Given the description of an element on the screen output the (x, y) to click on. 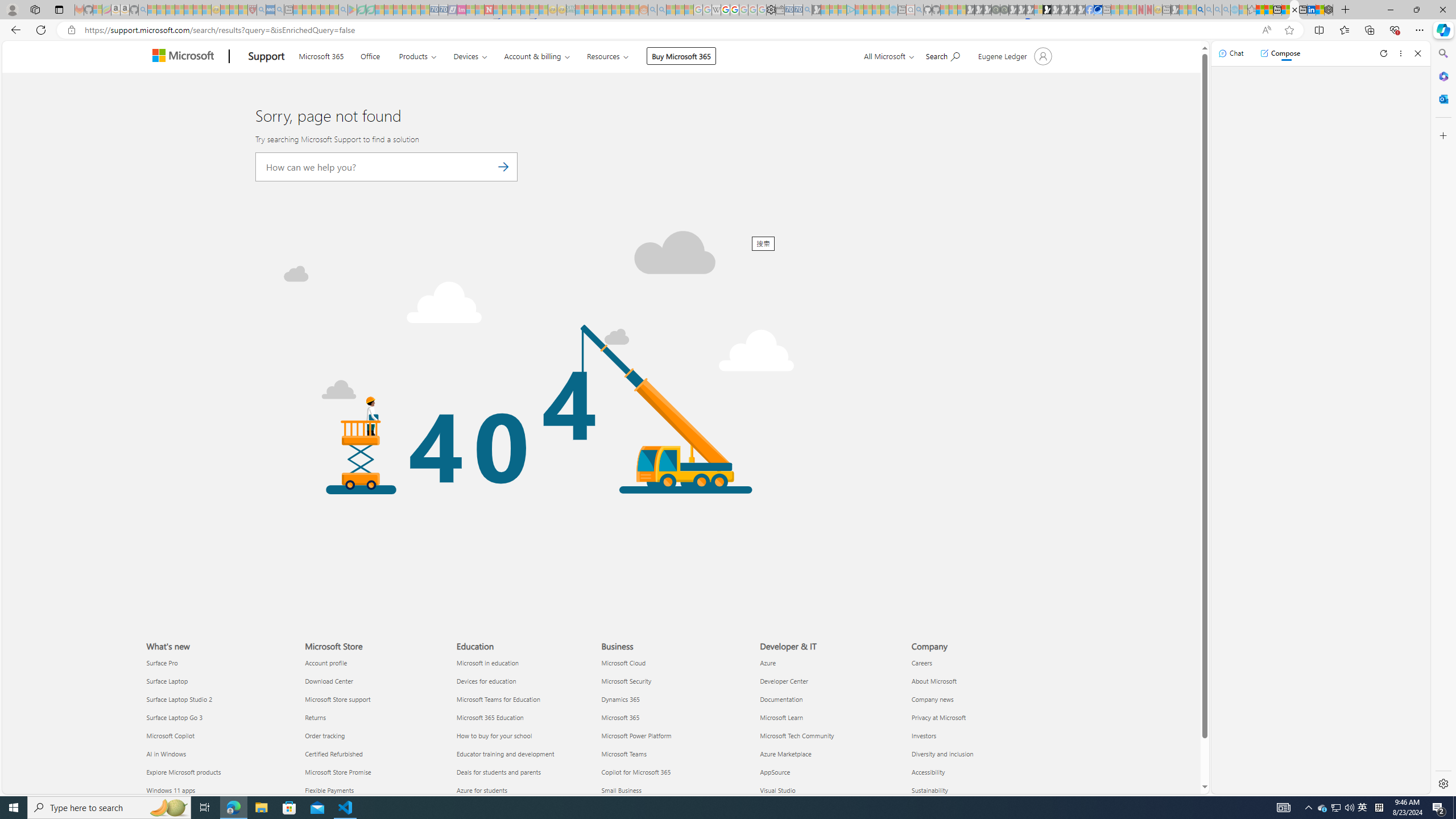
Surface Laptop What's new (166, 680)
Kinda Frugal - MSN - Sleeping (616, 9)
Microsoft Security Business (626, 680)
Small Business Business (621, 789)
Copilot for Microsoft 365 (673, 771)
Microsoft Cloud (673, 662)
Jobs - lastminute.com Investor Portal - Sleeping (461, 9)
Latest Politics News & Archive | Newsweek.com - Sleeping (488, 9)
